Given the description of an element on the screen output the (x, y) to click on. 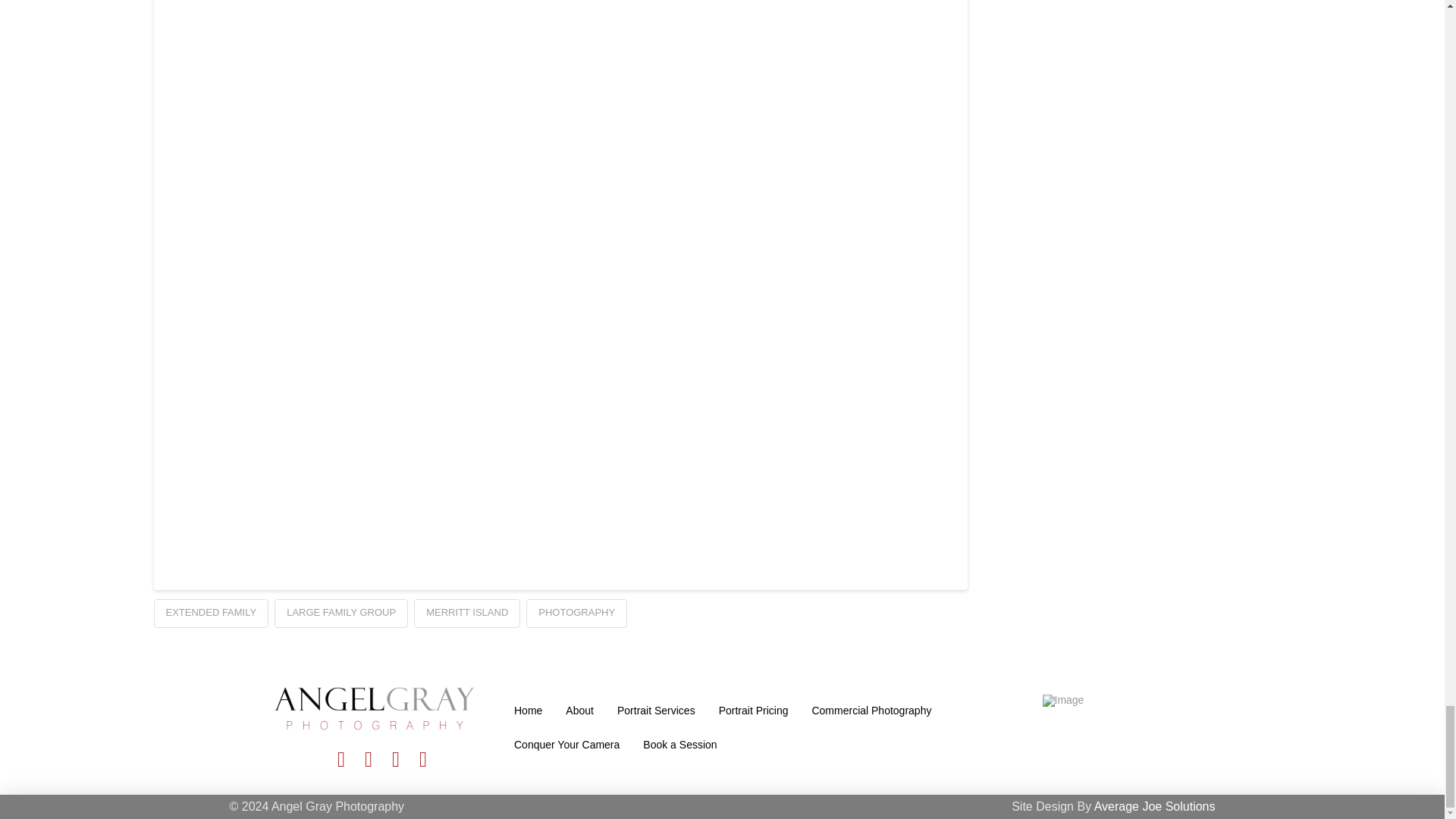
PHOTOGRAPHY (576, 613)
EXTENDED FAMILY (209, 613)
MERRITT ISLAND (466, 613)
LARGE FAMILY GROUP (341, 613)
